Given the description of an element on the screen output the (x, y) to click on. 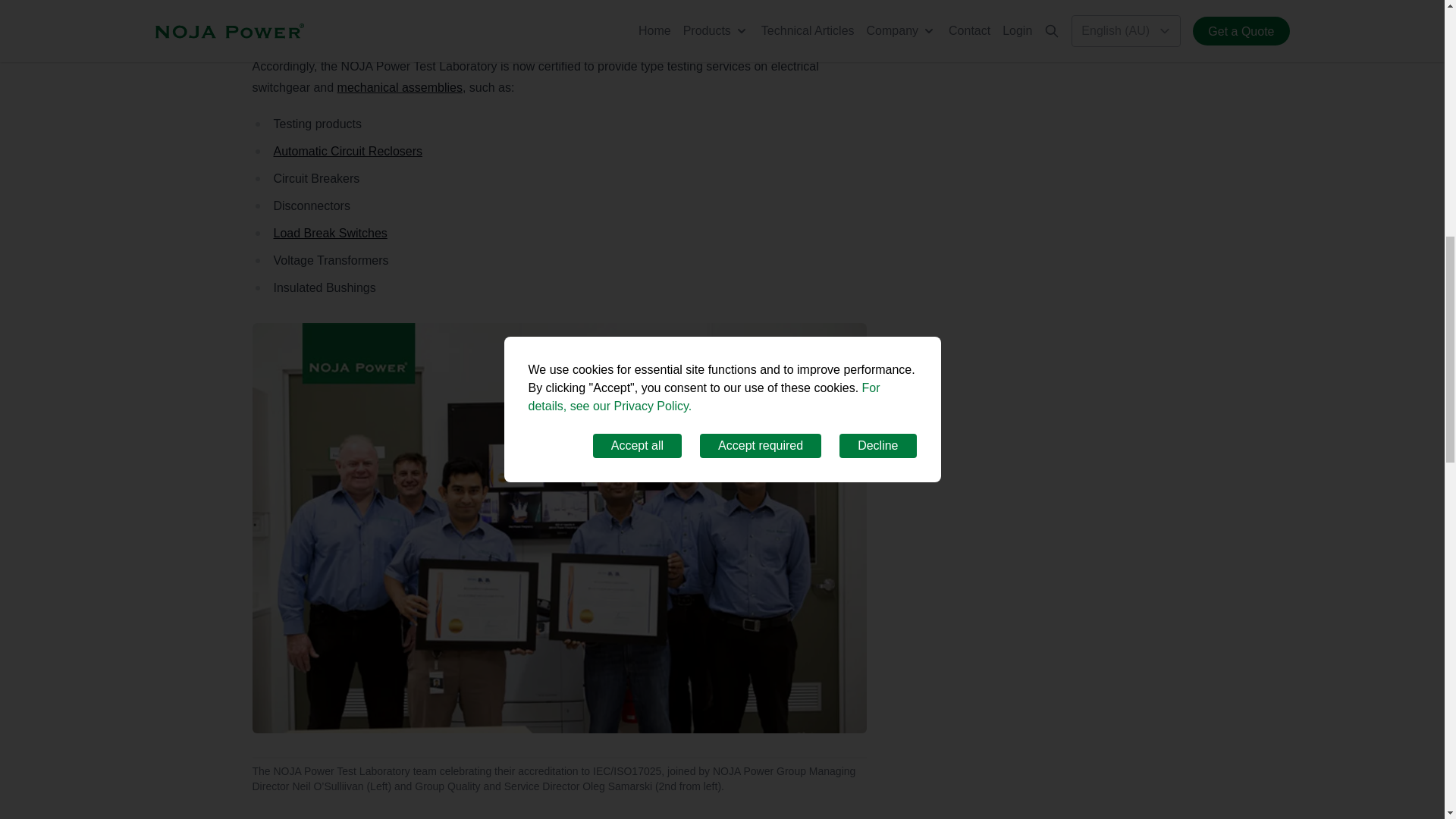
Load Break Switches (330, 232)
mechanical assemblies (400, 87)
Automatic Circuit Reclosers (347, 151)
